Given the description of an element on the screen output the (x, y) to click on. 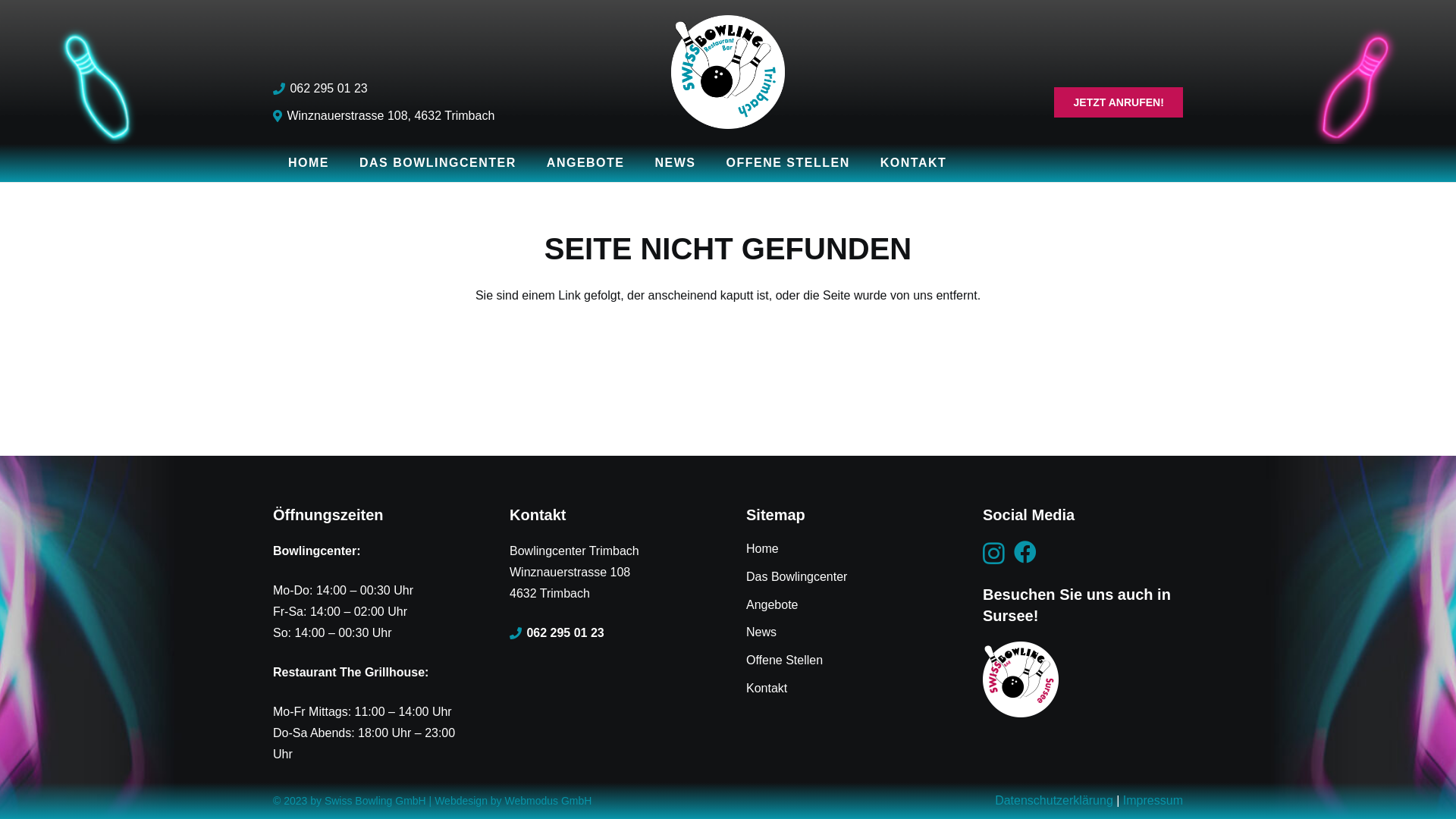
NEWS Element type: text (675, 163)
Das Bowlingcenter Element type: text (796, 576)
OFFENE STELLEN Element type: text (788, 163)
Impressum Element type: text (1153, 799)
Angebote Element type: text (772, 604)
Facebook Element type: hover (1024, 551)
Home Element type: text (762, 548)
Kontakt Element type: text (766, 687)
HOME Element type: text (308, 163)
Instagram Element type: hover (993, 552)
062 295 01 23 Element type: text (320, 87)
DAS BOWLINGCENTER Element type: text (437, 163)
News Element type: text (761, 631)
KONTAKT Element type: text (913, 163)
062 295 01 23 Element type: text (556, 632)
JETZT ANRUFEN! Element type: text (1118, 101)
Offene Stellen Element type: text (784, 659)
ANGEBOTE Element type: text (585, 163)
Webdesign by Webmodus GmbH Element type: text (512, 800)
